Given the description of an element on the screen output the (x, y) to click on. 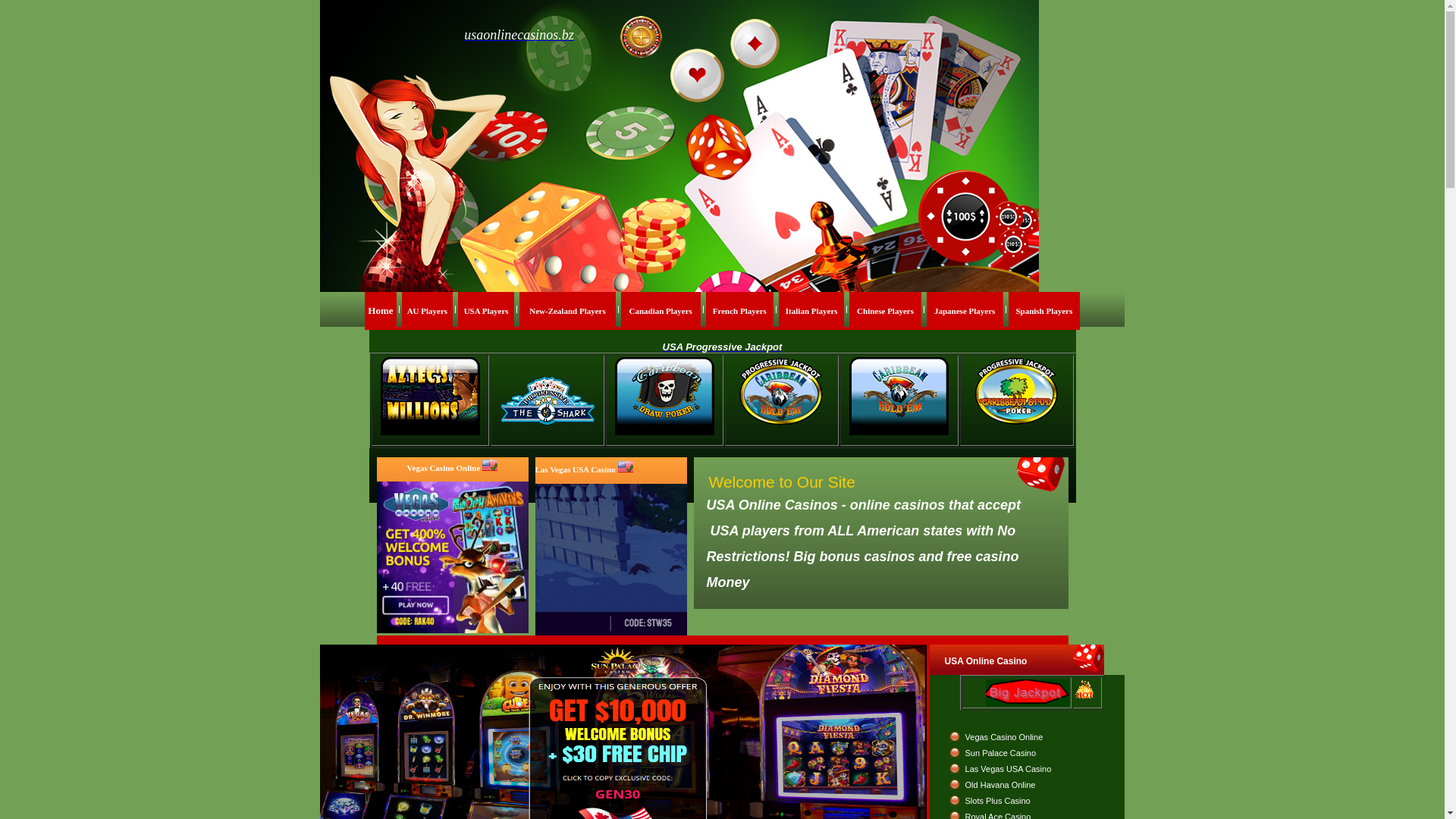
400% WELCOME BONUS + 40 FREE SPINS Element type: hover (451, 557)
AU Players Element type: text (427, 310)
Vegas Casino Online Element type: text (443, 467)
Las Vegas USA Casino Element type: text (575, 468)
Spanish Players Element type: text (1043, 310)
usaonlinecasinos.bz Element type: text (519, 34)
Italian Players Element type: text (811, 310)
Chinese Players Element type: text (884, 310)
Vegas Casino Online Element type: text (1004, 736)
Canadian Players Element type: text (659, 310)
French Players Element type: text (739, 310)
Japanese Players Element type: text (964, 310)
Slots Plus Casino Element type: text (997, 800)
USA Progressive Jackpot Element type: text (722, 346)
New-Zealand Players Element type: text (567, 310)
Las Vegas USA Casino Element type: text (1008, 768)
Home Element type: text (379, 310)
USA Players Element type: text (486, 310)
Sun Palace Casino Element type: text (1000, 751)
Old Havana Online Element type: text (1000, 783)
400% WELCOME BONUS + 35 FREE SPINS Element type: hover (611, 559)
